Given the description of an element on the screen output the (x, y) to click on. 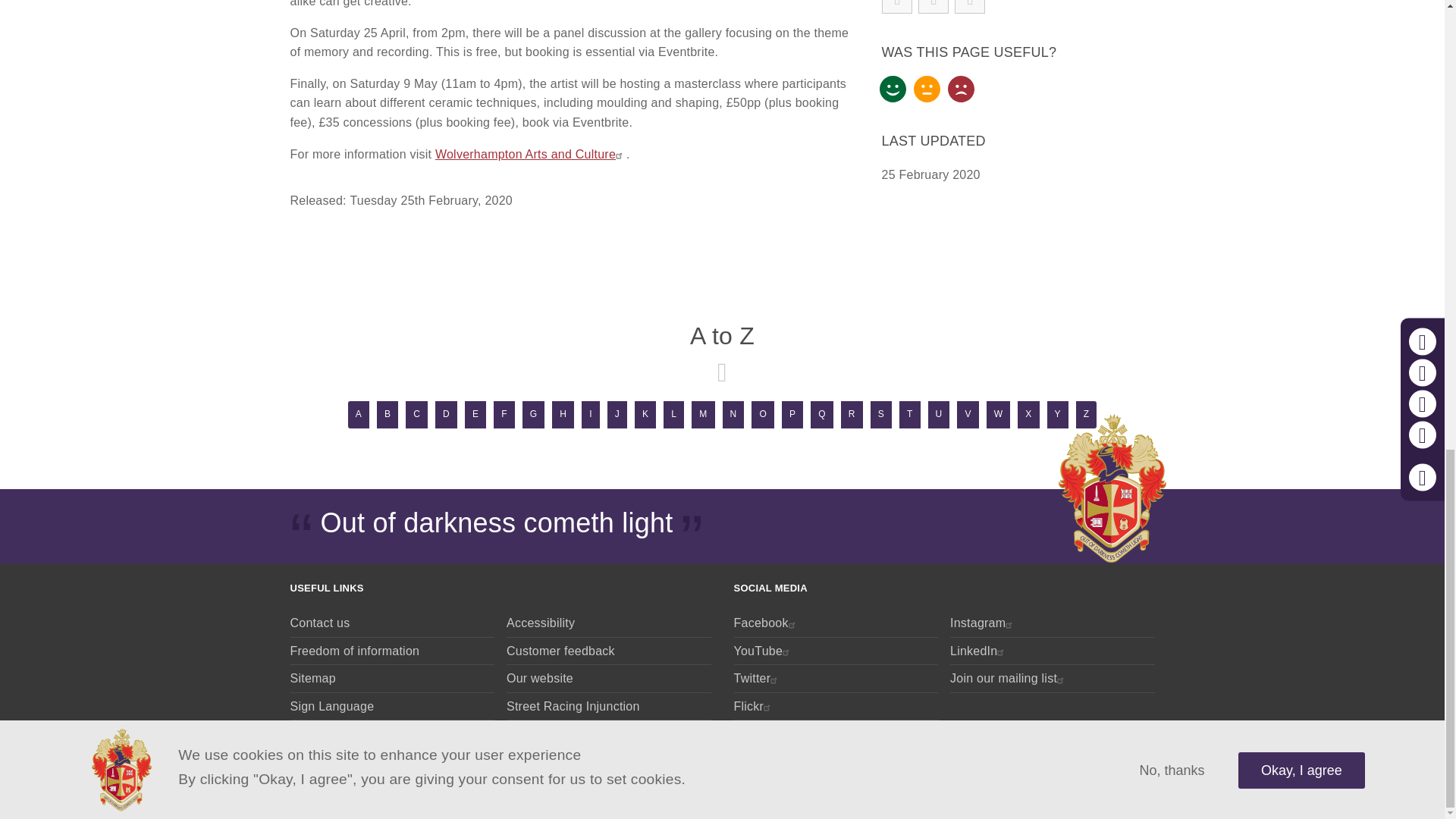
Neutral (927, 89)
Share to E-mail (970, 6)
Yes (892, 89)
Share to Facebook (897, 6)
No (960, 89)
Share to Facebook (897, 6)
Share to Linkedin (933, 6)
